Given the description of an element on the screen output the (x, y) to click on. 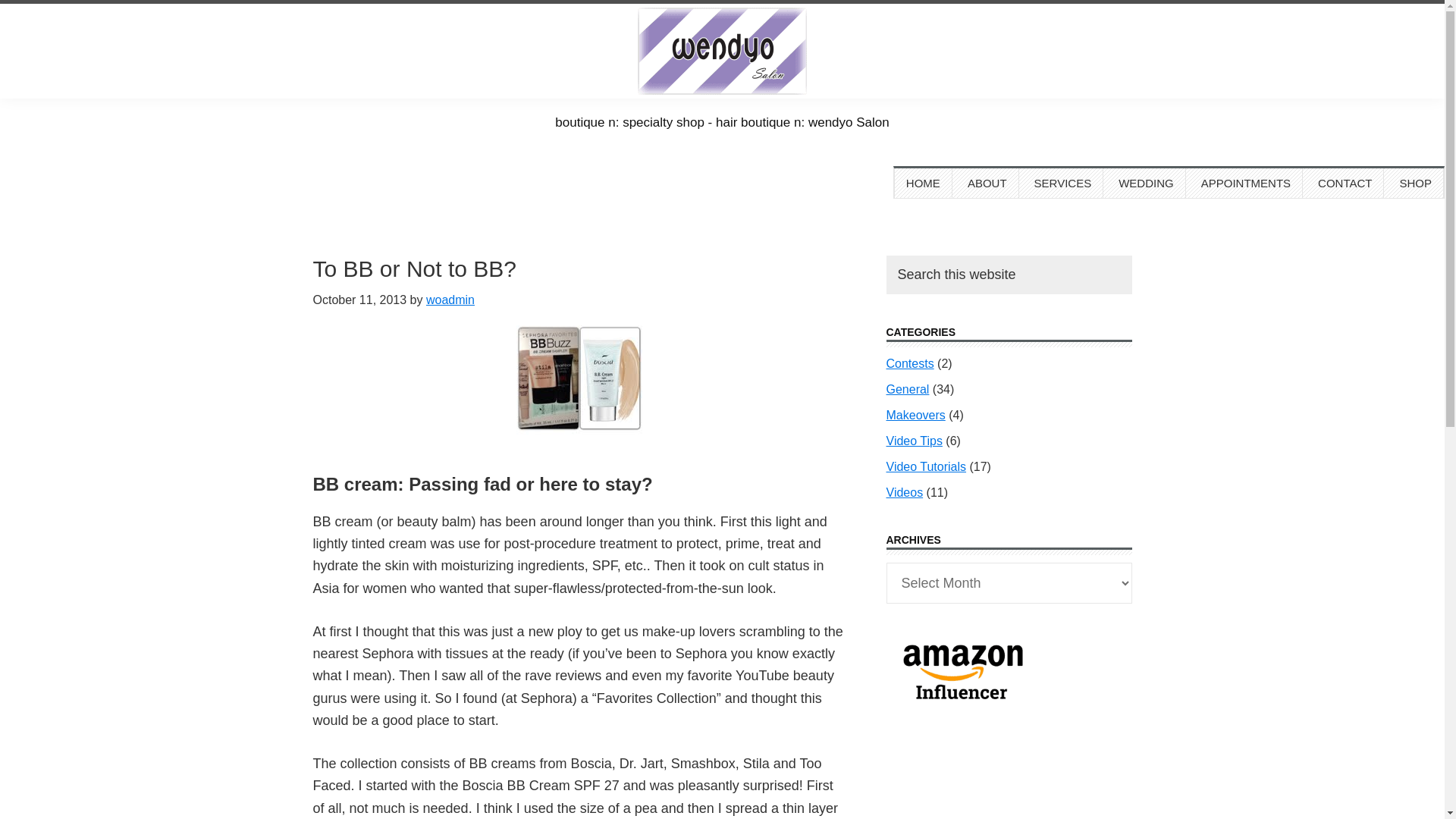
Contests (909, 363)
ABOUT (987, 183)
HOME (922, 183)
SHOP (1415, 183)
SERVICES (1063, 183)
woadmin (450, 299)
APPOINTMENTS (1246, 183)
